Given the description of an element on the screen output the (x, y) to click on. 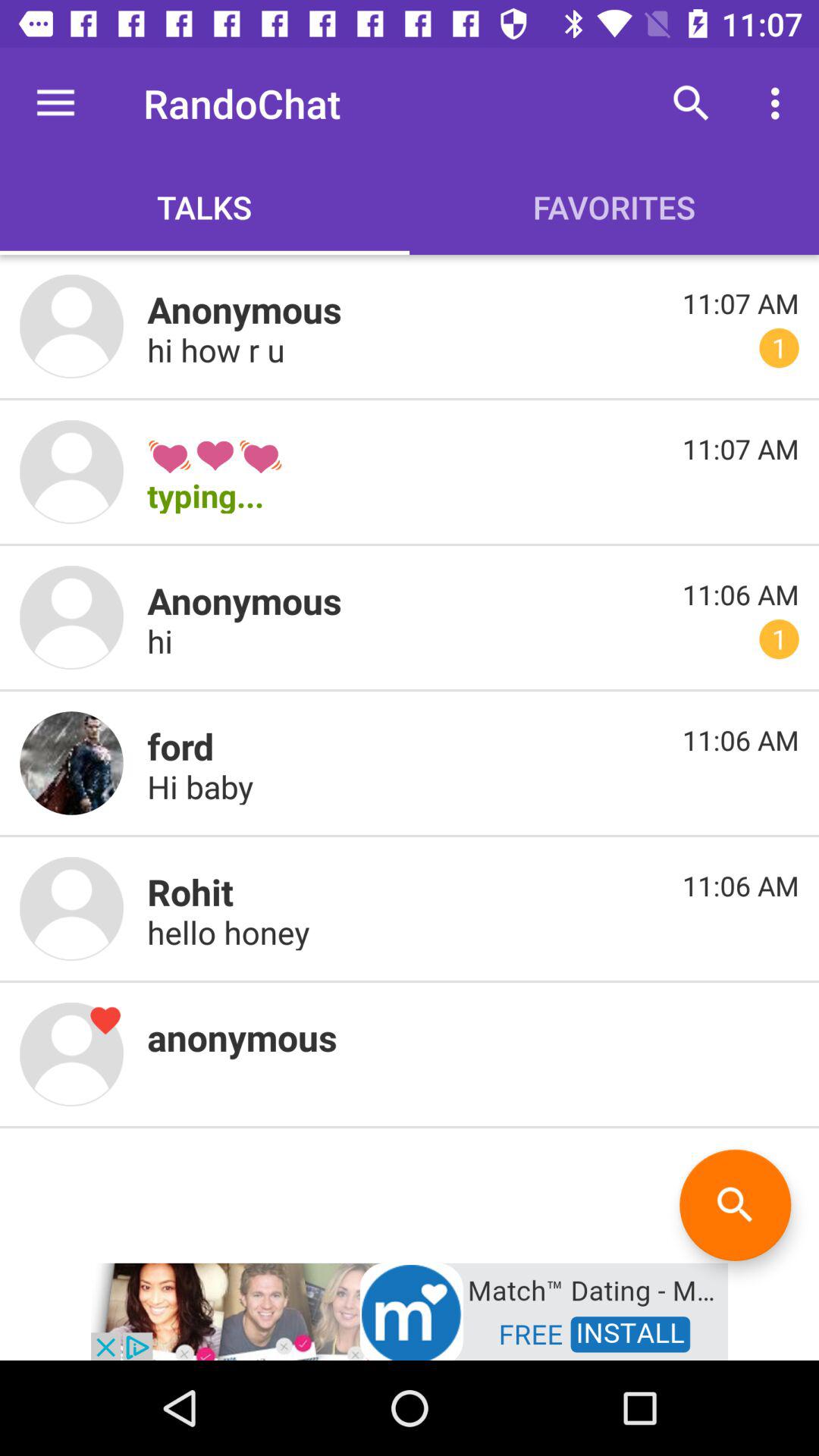
go to search (735, 1204)
